Given the description of an element on the screen output the (x, y) to click on. 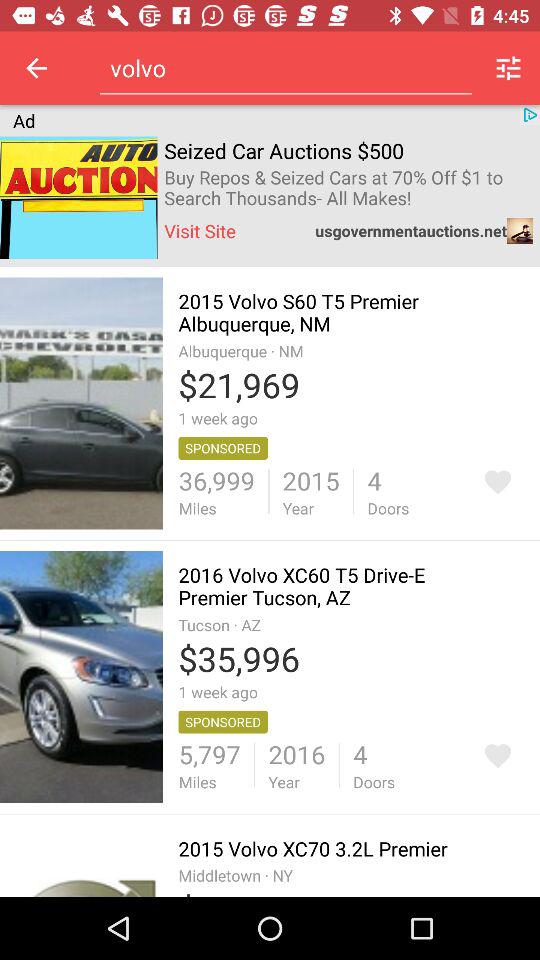
open the buy repos seized (348, 188)
